Given the description of an element on the screen output the (x, y) to click on. 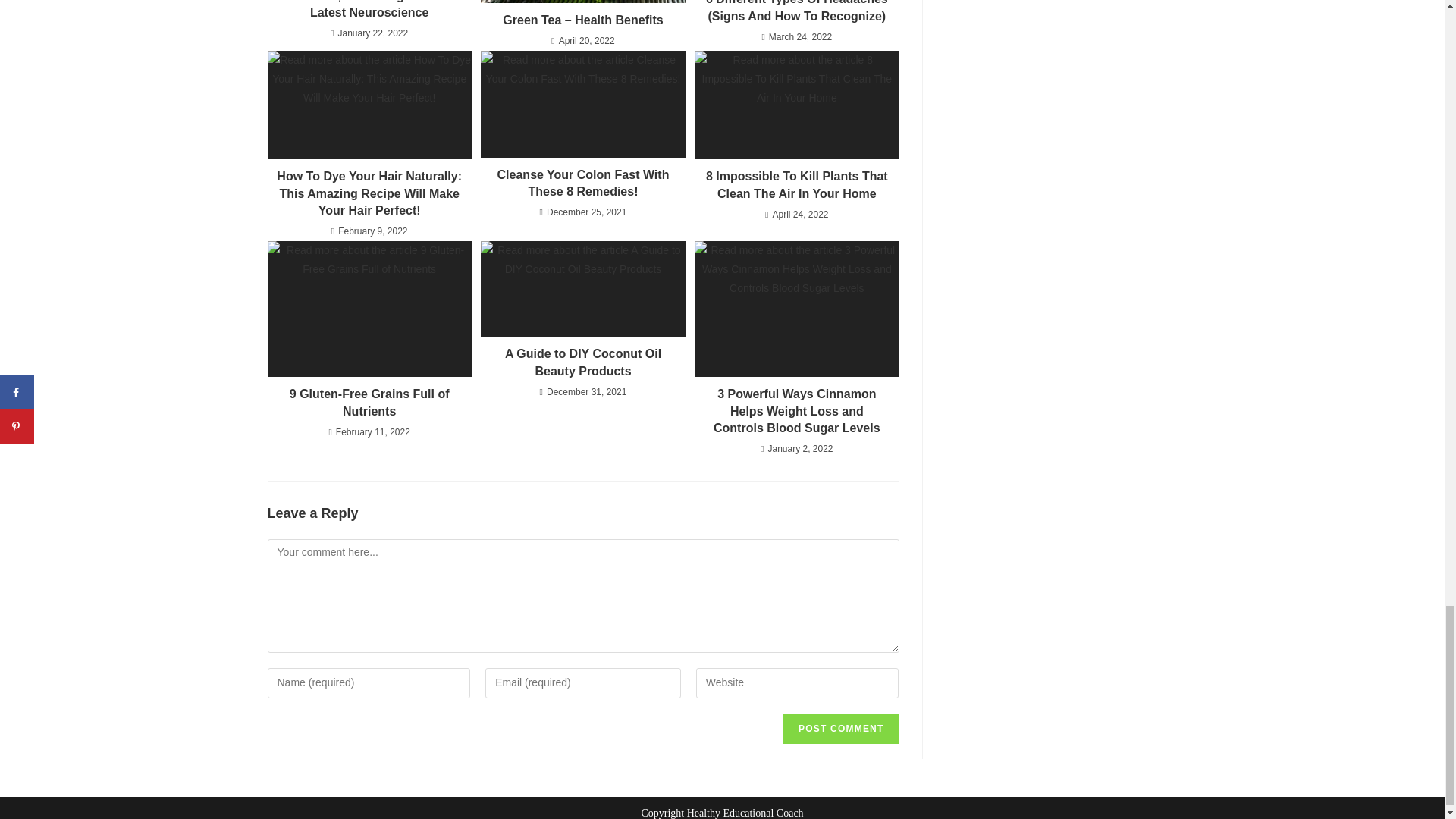
Post Comment (840, 728)
